Given the description of an element on the screen output the (x, y) to click on. 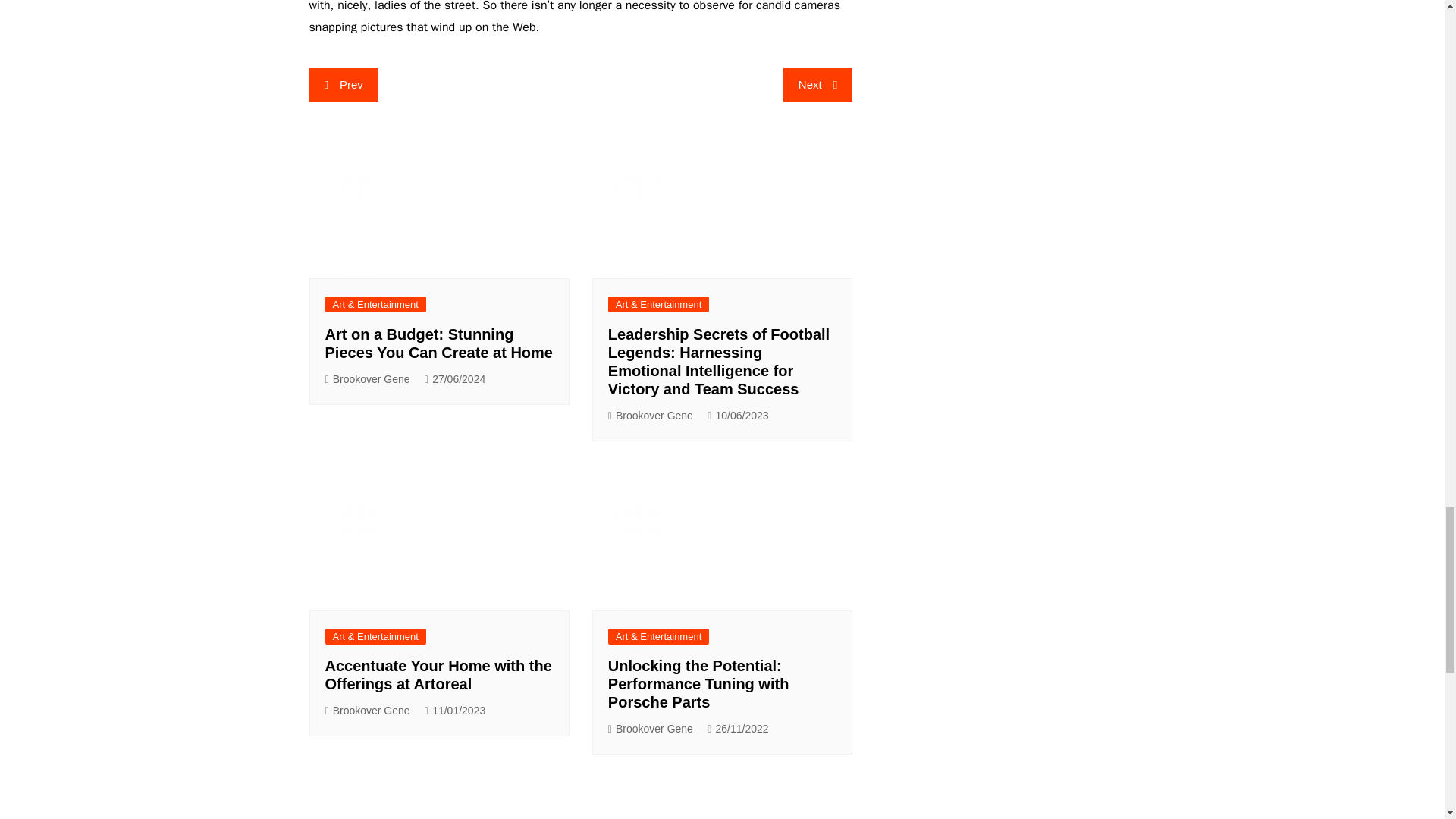
Art on a Budget: Stunning Pieces You Can Create at Home (438, 343)
Secrets to Become a Successful Internet Personality (721, 798)
Brookover Gene (366, 379)
Brookover Gene (366, 710)
Next (817, 84)
Suggestions for Choosing A Great Movie (438, 798)
Accentuate Your Home with the Offerings at Artoreal (437, 674)
Accentuate Your Home with the Offerings at Artoreal (438, 537)
